Given the description of an element on the screen output the (x, y) to click on. 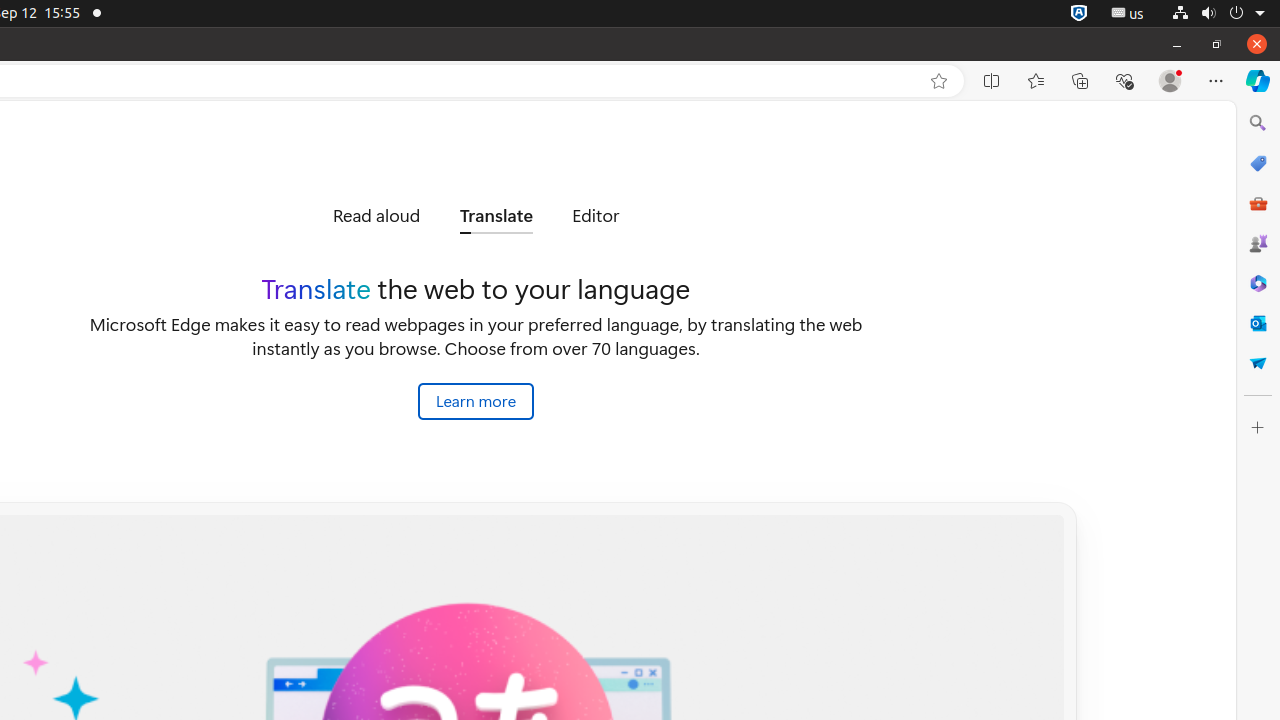
Read aloud Read aloud Element type: push-button (376, 216)
Collections Element type: push-button (1080, 81)
Add this page to favorites (Ctrl+D) Element type: push-button (939, 81)
System Element type: menu (1218, 13)
:1.21/StatusNotifierItem Element type: menu (1127, 13)
